Given the description of an element on the screen output the (x, y) to click on. 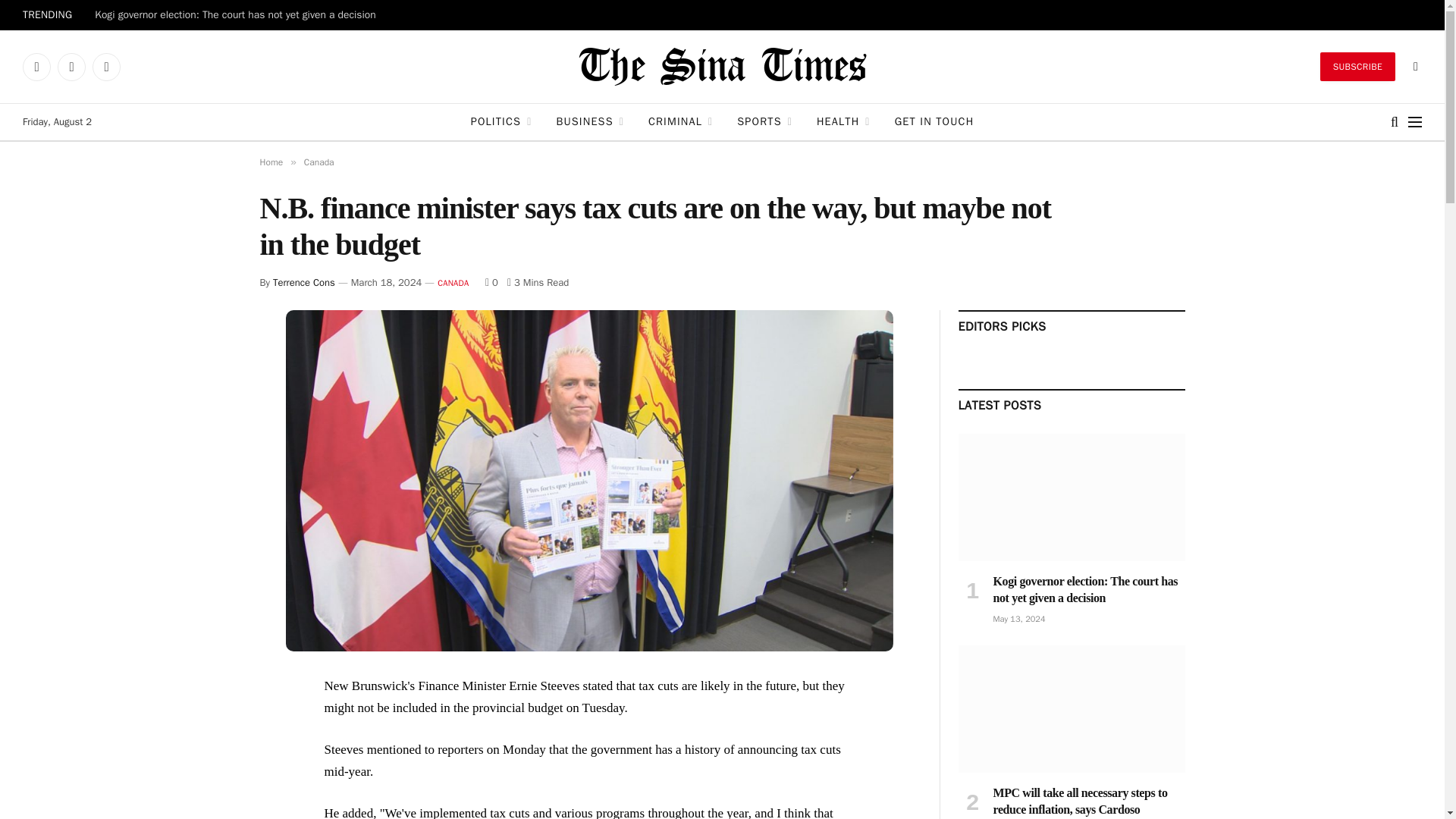
POLITICS (501, 122)
BUSINESS (589, 122)
Telegram (71, 67)
RSS (106, 67)
Switch to Dark Design - easier on eyes. (1414, 66)
The Sina Times (722, 66)
SUBSCRIBE (1357, 66)
